Given the description of an element on the screen output the (x, y) to click on. 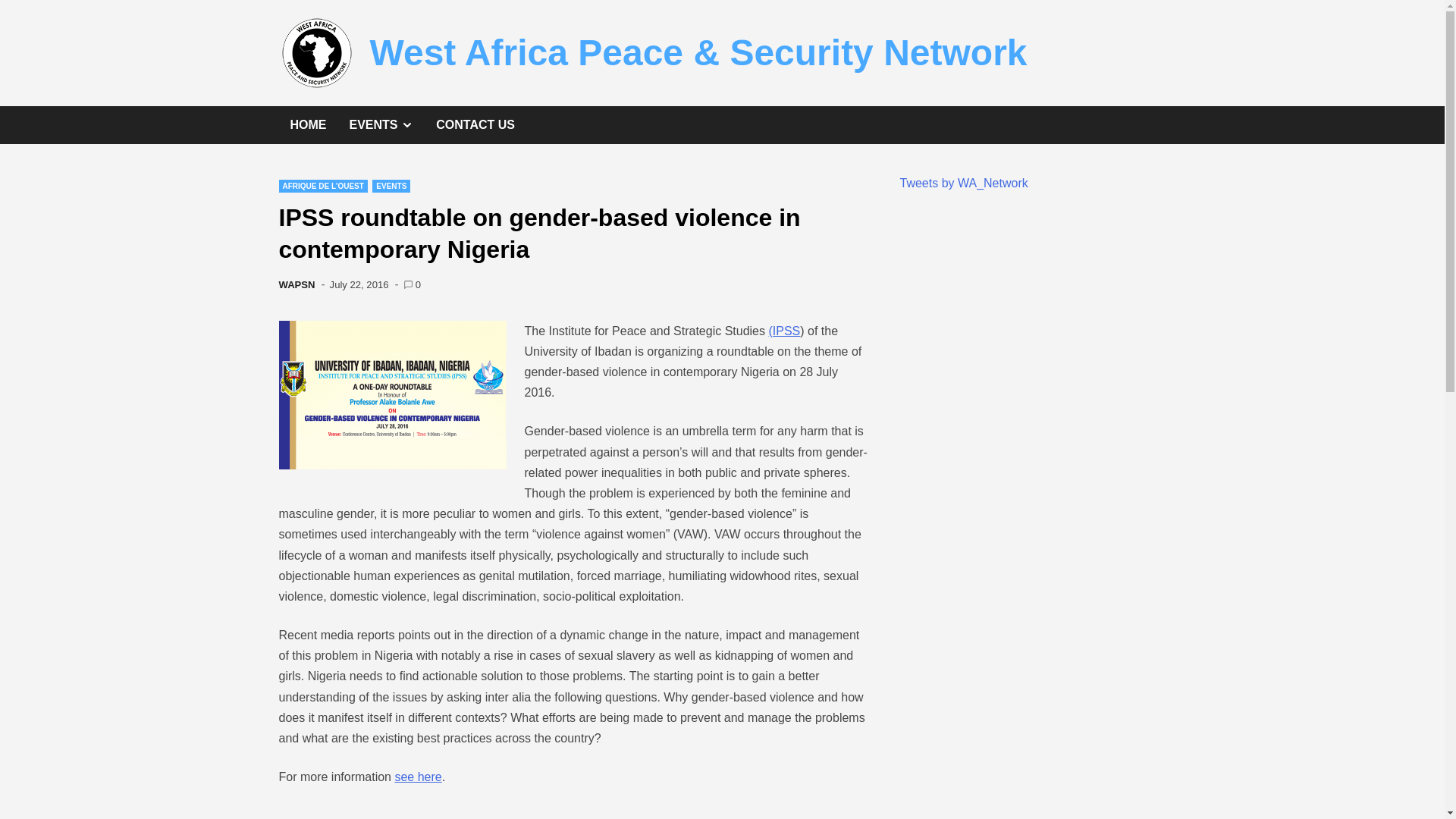
HOME (308, 125)
see here (417, 776)
WAPSN (381, 125)
CONTACT US (297, 284)
AFRIQUE DE L'OUEST (475, 125)
July 22, 2016 (323, 185)
EVENTS (359, 284)
